Given the description of an element on the screen output the (x, y) to click on. 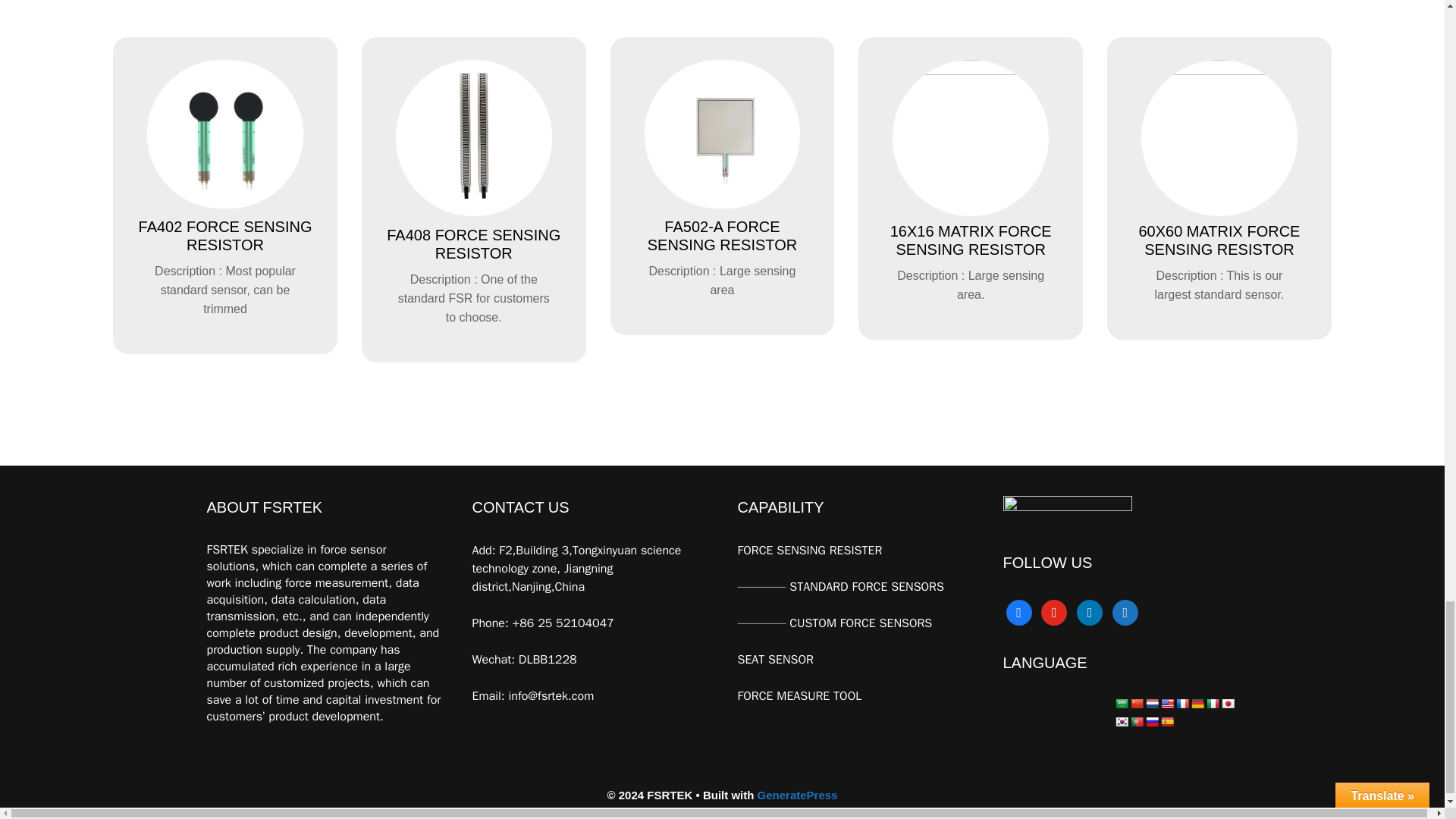
German (1197, 703)
English (1166, 703)
Korean (1121, 721)
Default Label (1054, 611)
Italian (1212, 703)
Facebook (1018, 611)
Spanish (1166, 721)
Russian (1151, 721)
Dutch (1151, 703)
French (1181, 703)
